Given the description of an element on the screen output the (x, y) to click on. 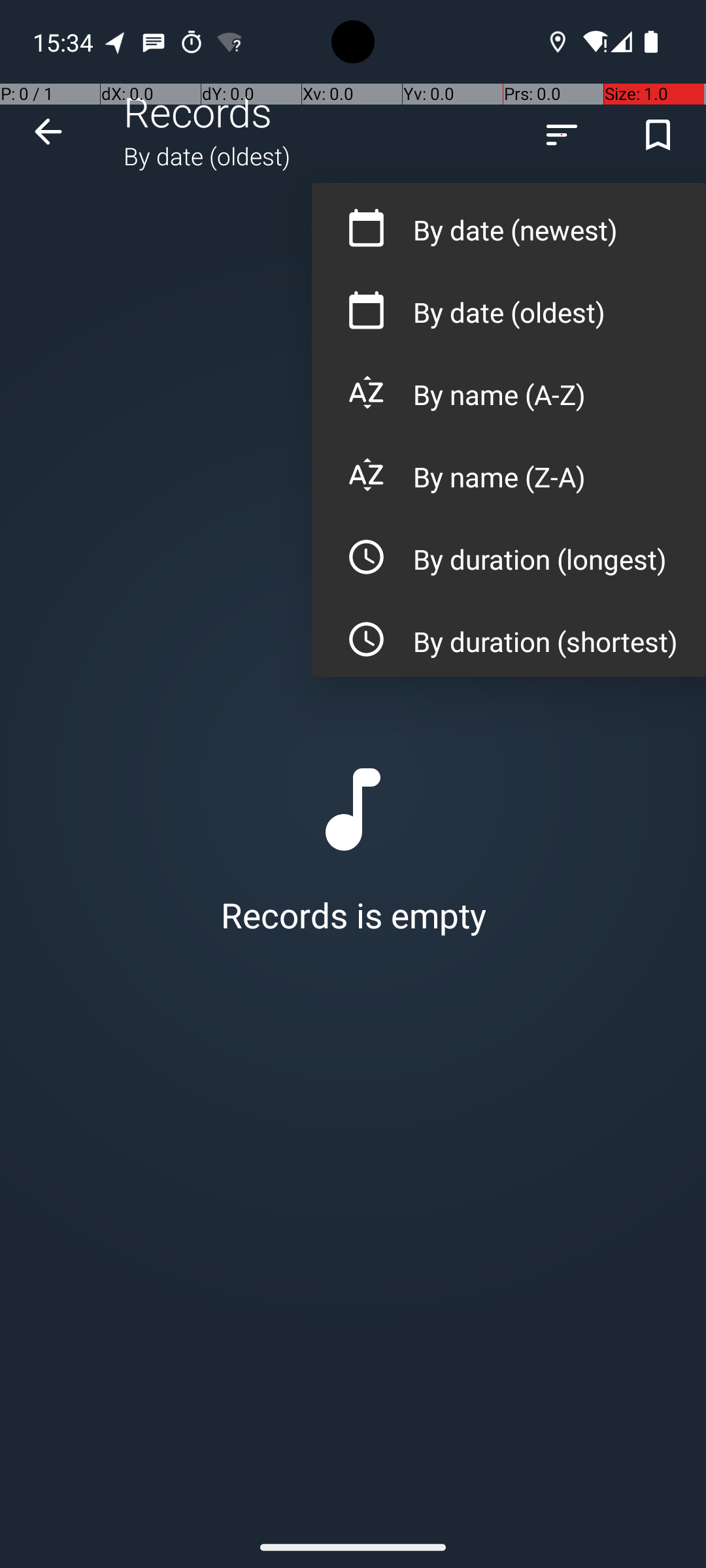
      By date (newest) Element type: android.widget.TextView (508, 223)
      By date (oldest) Element type: android.widget.TextView (508, 305)
      By name (A-Z) Element type: android.widget.TextView (508, 387)
      By name (Z-A) Element type: android.widget.TextView (508, 470)
      By duration (longest) Element type: android.widget.TextView (508, 552)
      By duration (shortest) Element type: android.widget.TextView (508, 634)
